Given the description of an element on the screen output the (x, y) to click on. 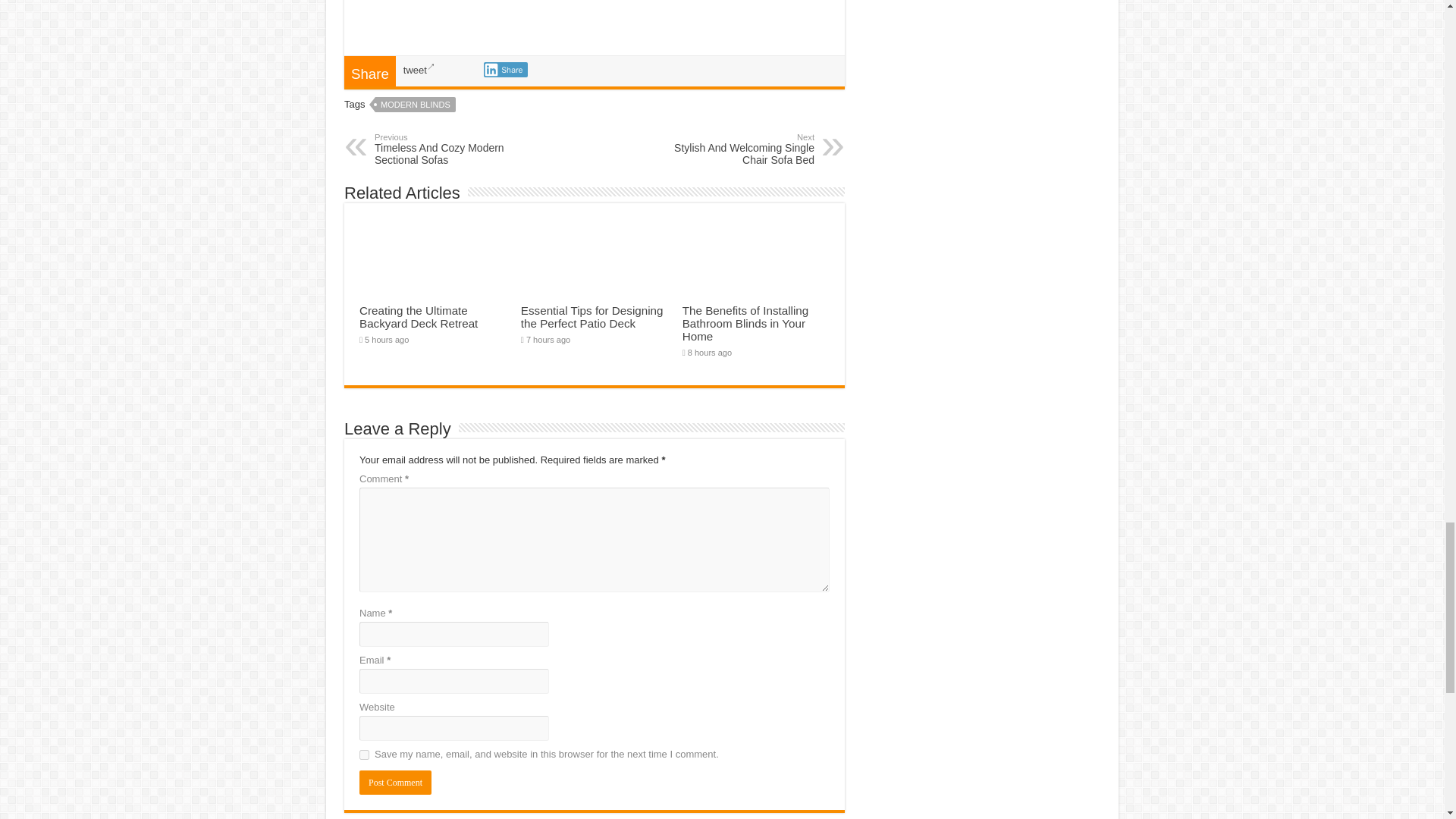
yes (364, 755)
Post Comment (394, 782)
